Given the description of an element on the screen output the (x, y) to click on. 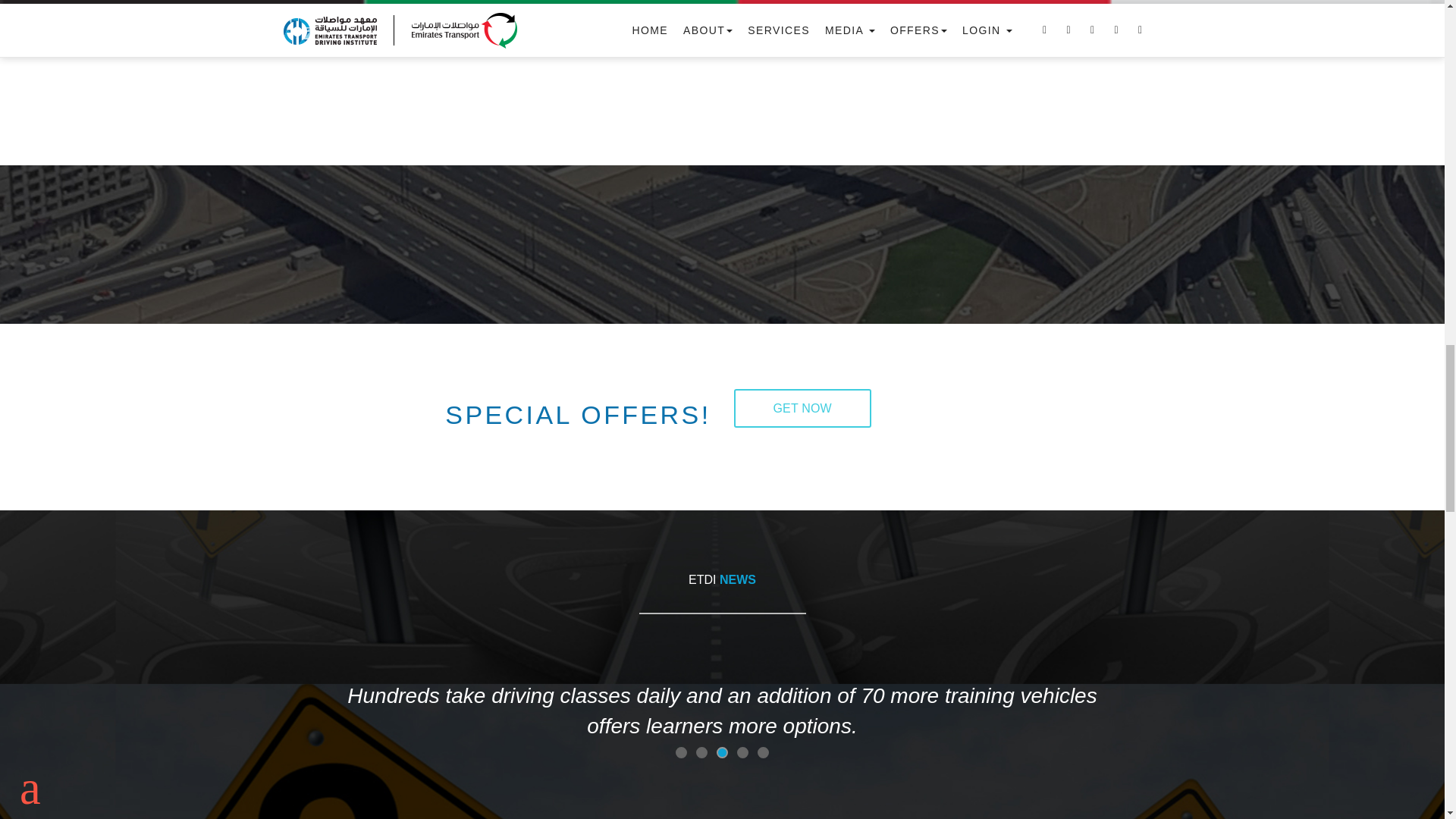
GET NOW (801, 408)
